Given the description of an element on the screen output the (x, y) to click on. 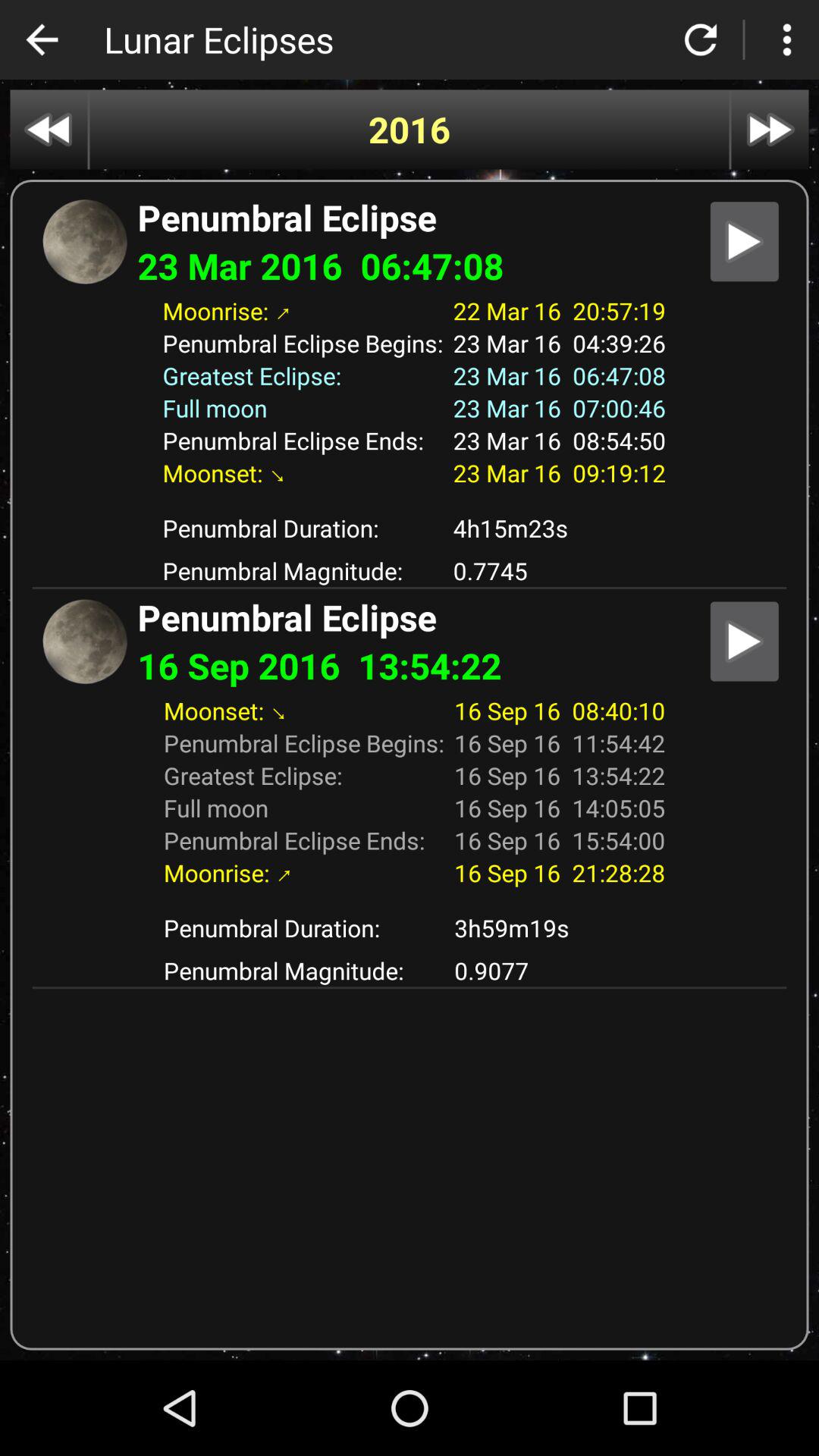
launch item to the left of lunar eclipses app (41, 39)
